Given the description of an element on the screen output the (x, y) to click on. 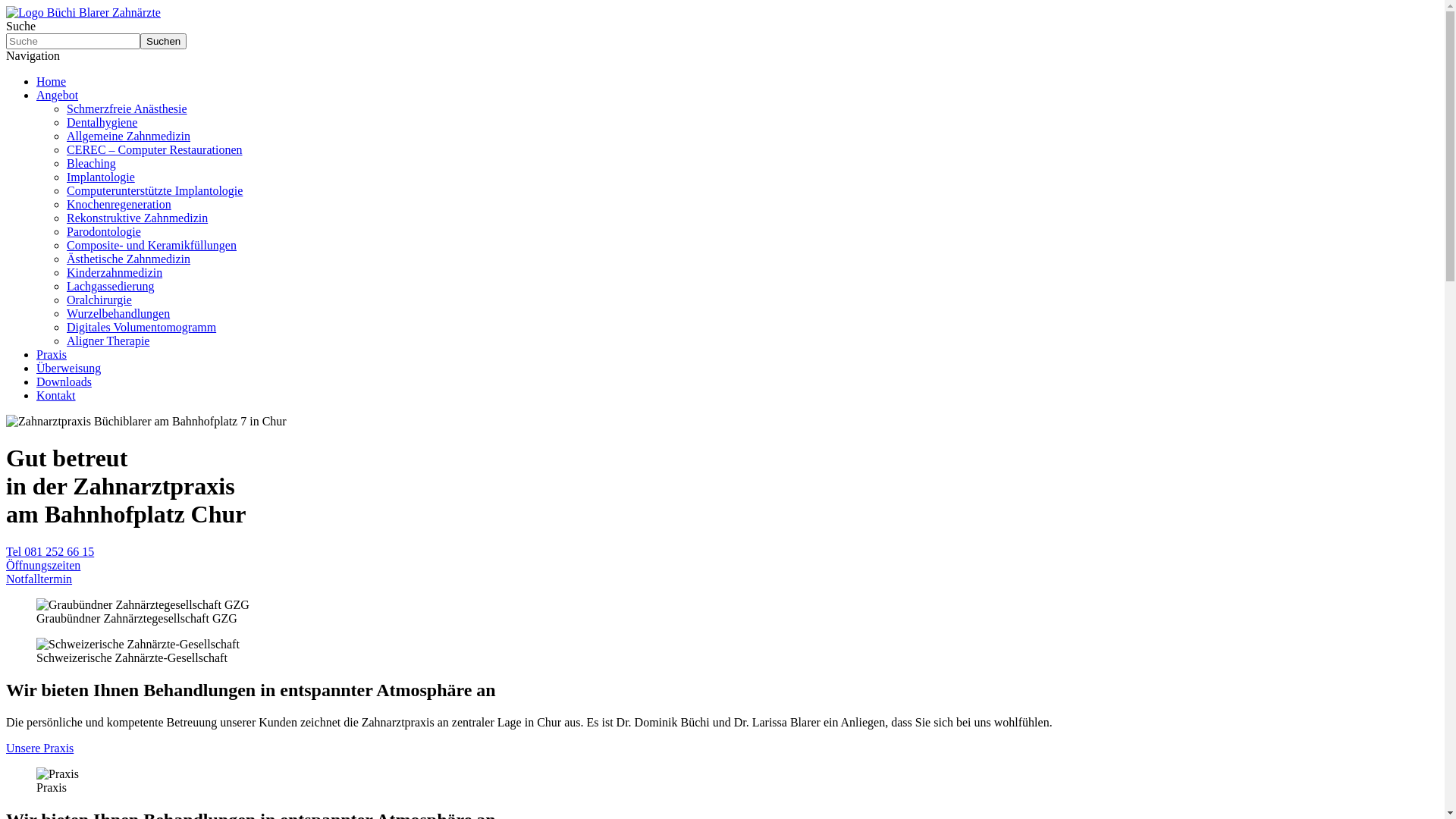
Angebot Element type: text (57, 94)
Home Element type: text (50, 81)
Implantologie Element type: text (100, 176)
Zur Startseite Element type: hover (83, 12)
Praxis Element type: hover (57, 773)
Notfalltermin Element type: text (39, 578)
Allgemeine Zahnmedizin Element type: text (128, 135)
Parodontologie Element type: text (103, 231)
Tel 081 252 66 15 Element type: text (50, 551)
Rekonstruktive Zahnmedizin Element type: text (136, 217)
Digitales Volumentomogramm Element type: text (141, 326)
Dentalhygiene Element type: text (101, 122)
Aligner Therapie Element type: text (107, 340)
Praxis Element type: text (51, 354)
Suchen Element type: text (163, 41)
Knochenregeneration Element type: text (118, 203)
Bleaching Element type: text (91, 162)
Kinderzahnmedizin Element type: text (114, 272)
Wurzelbehandlungen Element type: text (117, 313)
Kontakt Element type: text (55, 395)
Downloads Element type: text (63, 381)
Unsere Praxis Element type: text (39, 747)
Oralchirurgie Element type: text (98, 299)
Lachgassedierung Element type: text (110, 285)
